Given the description of an element on the screen output the (x, y) to click on. 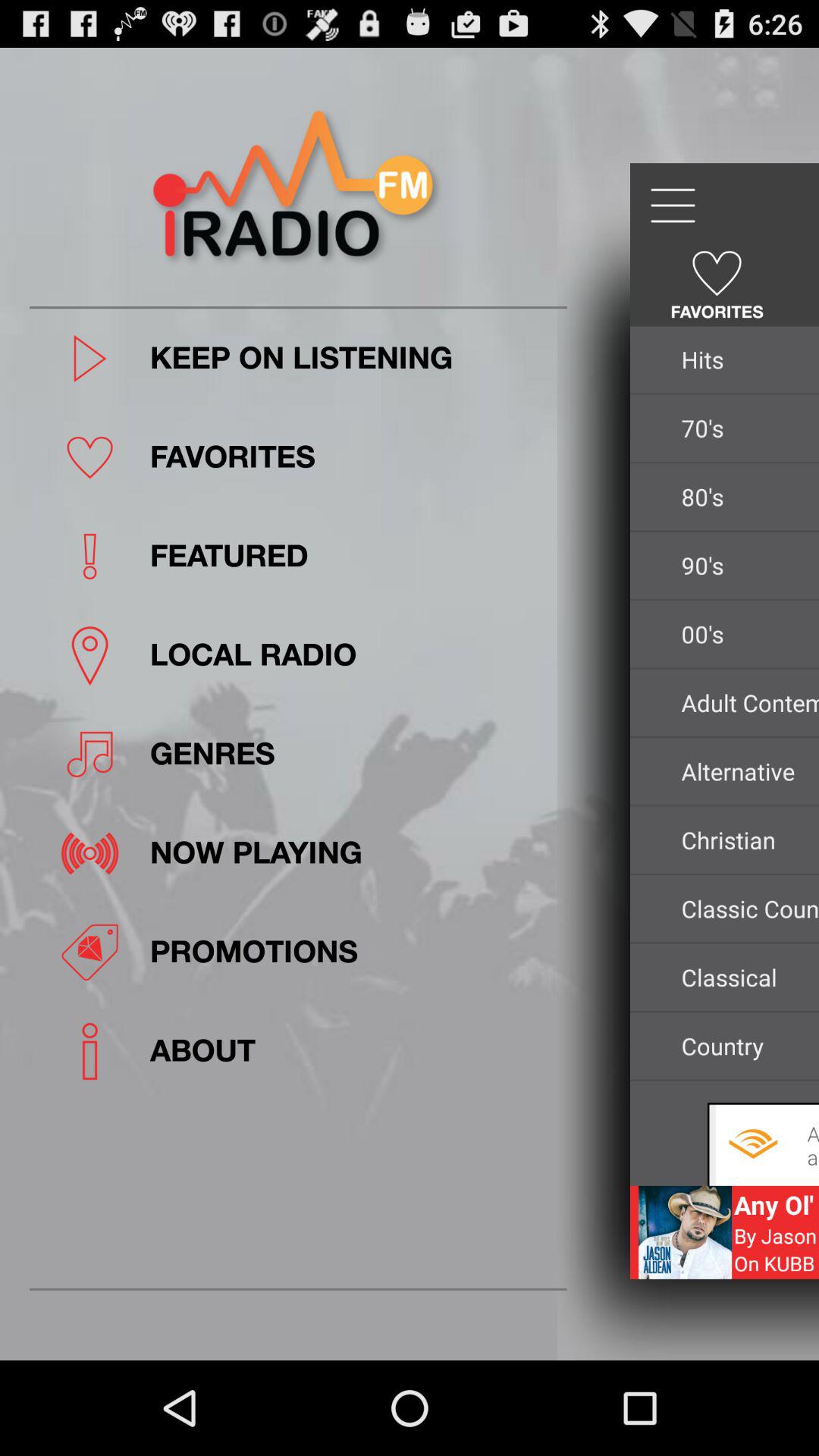
choose the keep on listening app (353, 358)
